Given the description of an element on the screen output the (x, y) to click on. 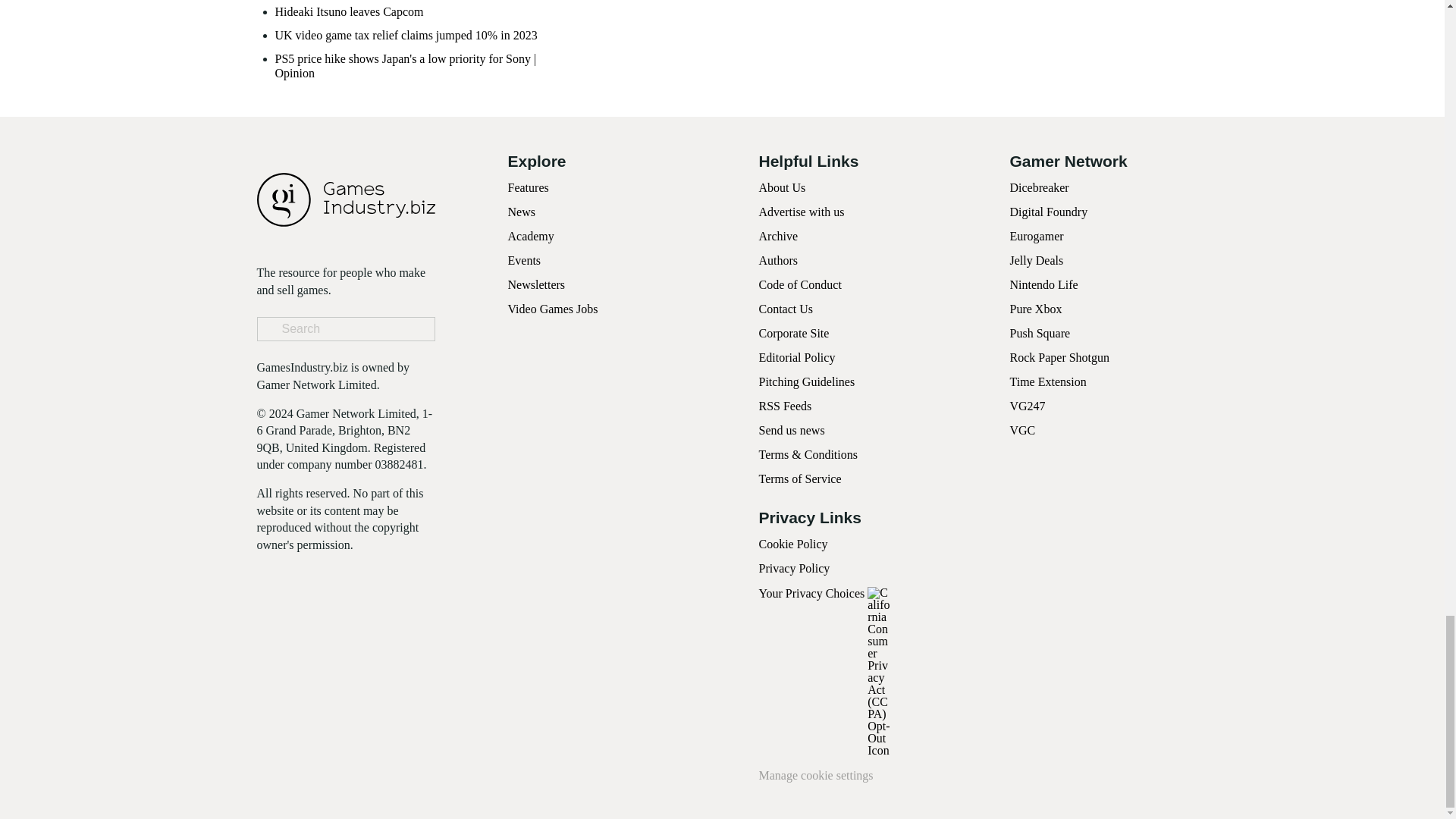
News (521, 211)
Newsletters (537, 284)
Academy (531, 236)
Hideaki Itsuno leaves Capcom (349, 11)
About Us (781, 187)
Events (524, 259)
Video Games Jobs (553, 308)
Features (528, 187)
